Given the description of an element on the screen output the (x, y) to click on. 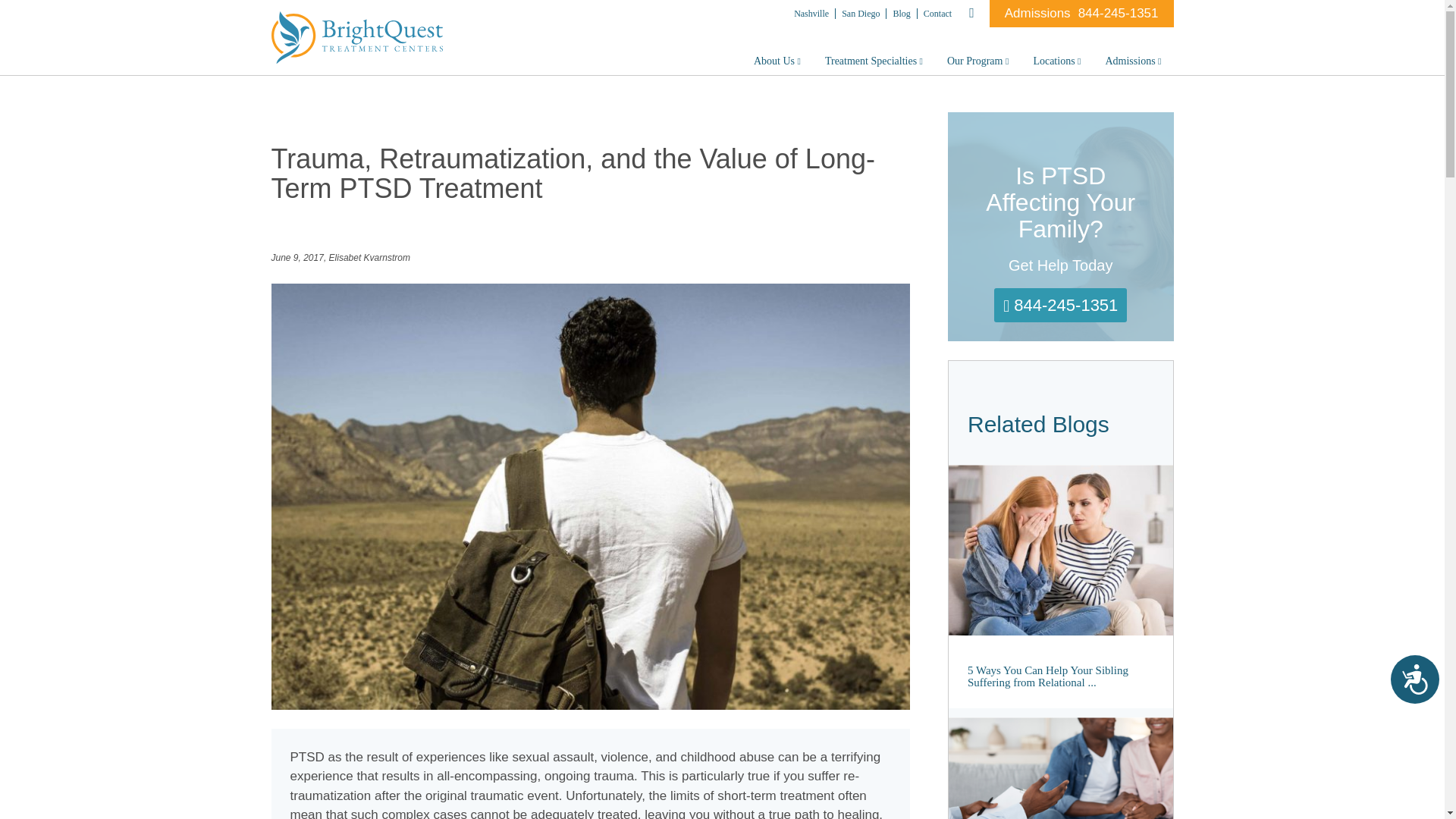
Contact (937, 13)
About Us (777, 61)
Nashville (811, 13)
San Diego (860, 13)
How Trauma Can Result in Codependency (1061, 768)
Blog (901, 13)
Treatment Specialties (873, 61)
844-245-1351 (1118, 12)
